Given the description of an element on the screen output the (x, y) to click on. 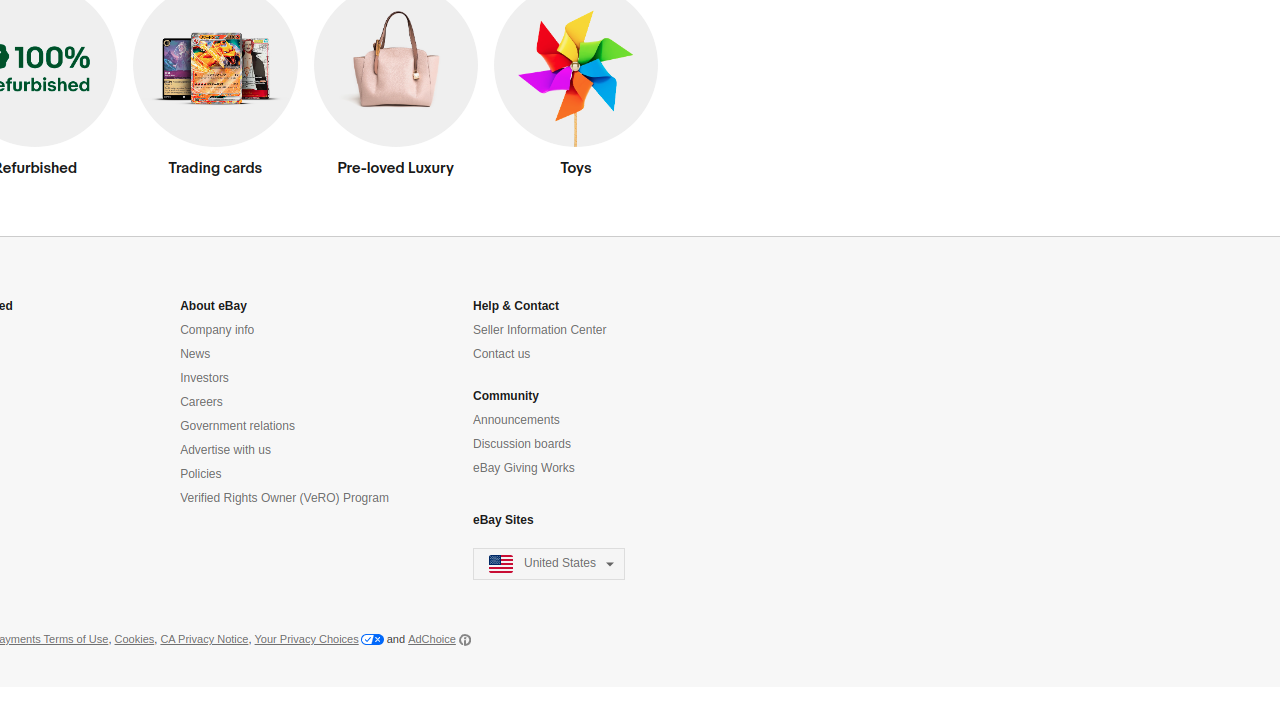
Investors Element type: link (204, 378)
eBay sites,United States Element type: push-button (549, 564)
Government relations Element type: link (237, 426)
Careers Element type: link (201, 402)
AdChoice Element type: link (439, 640)
